Given the description of an element on the screen output the (x, y) to click on. 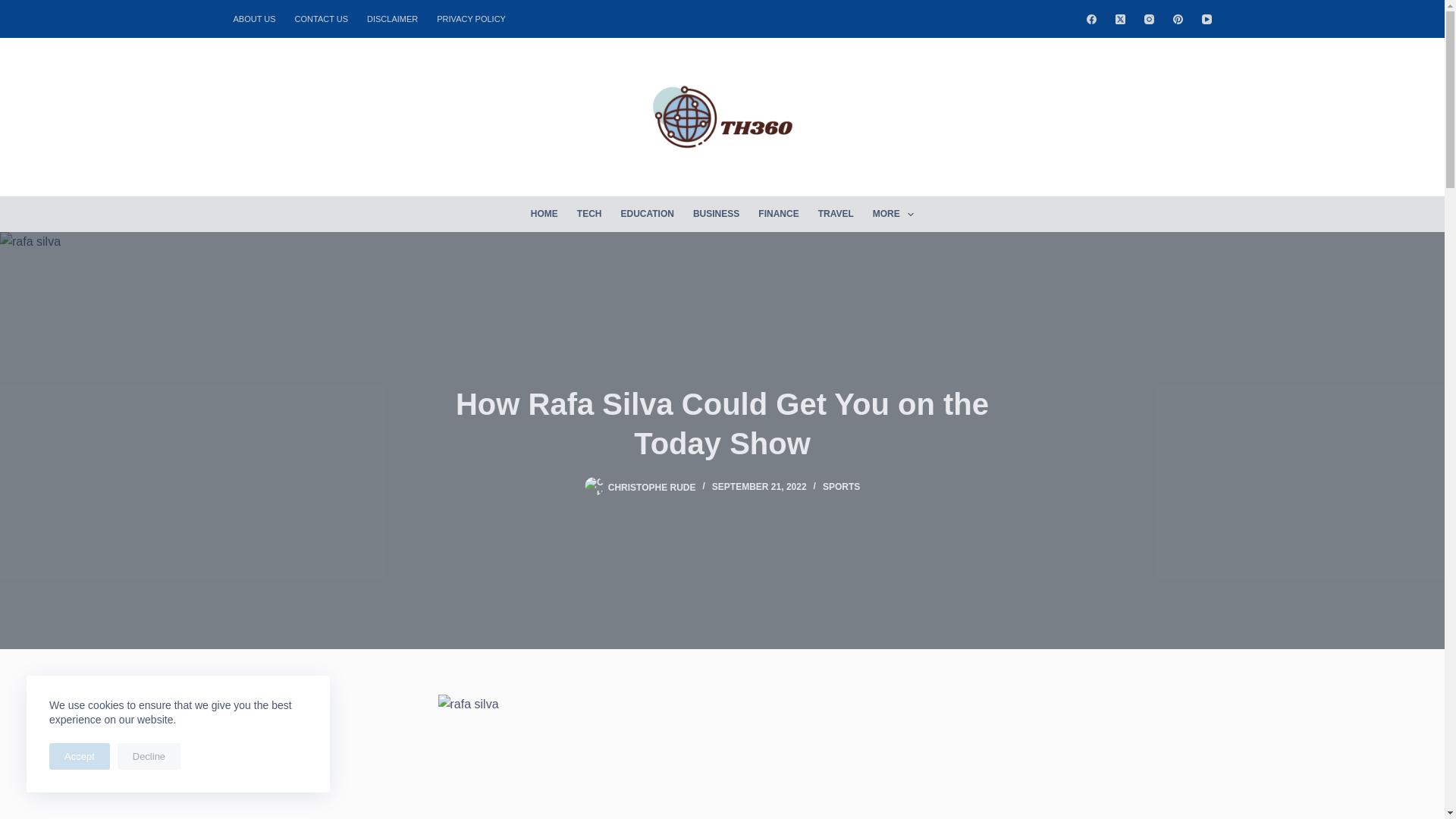
PRIVACY POLICY (471, 18)
Skip to content (15, 7)
BUSINESS (715, 213)
Posts by Christophe Rude (651, 486)
TRAVEL (835, 213)
ABOUT US (258, 18)
CONTACT US (321, 18)
FINANCE (778, 213)
DISCLAIMER (393, 18)
How Rafa Silva Could Get You on the Today Show (722, 423)
